Given the description of an element on the screen output the (x, y) to click on. 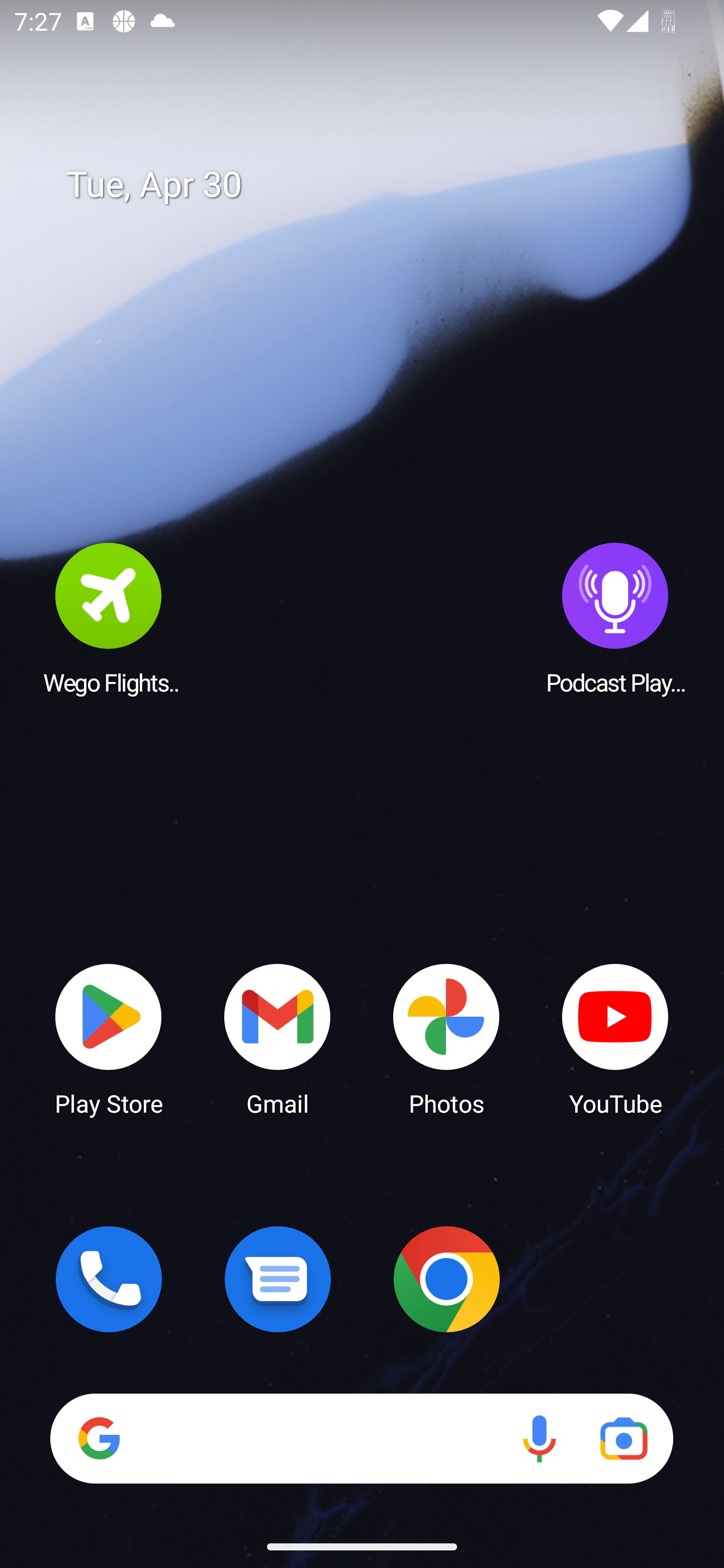
Tue, Apr 30 (375, 184)
Wego Flights & Hotels (108, 617)
Podcast Player (615, 617)
Play Store (108, 1038)
Gmail (277, 1038)
Photos (445, 1038)
YouTube (615, 1038)
Phone (108, 1279)
Messages (277, 1279)
Chrome (446, 1279)
Voice search (539, 1438)
Google Lens (623, 1438)
